Given the description of an element on the screen output the (x, y) to click on. 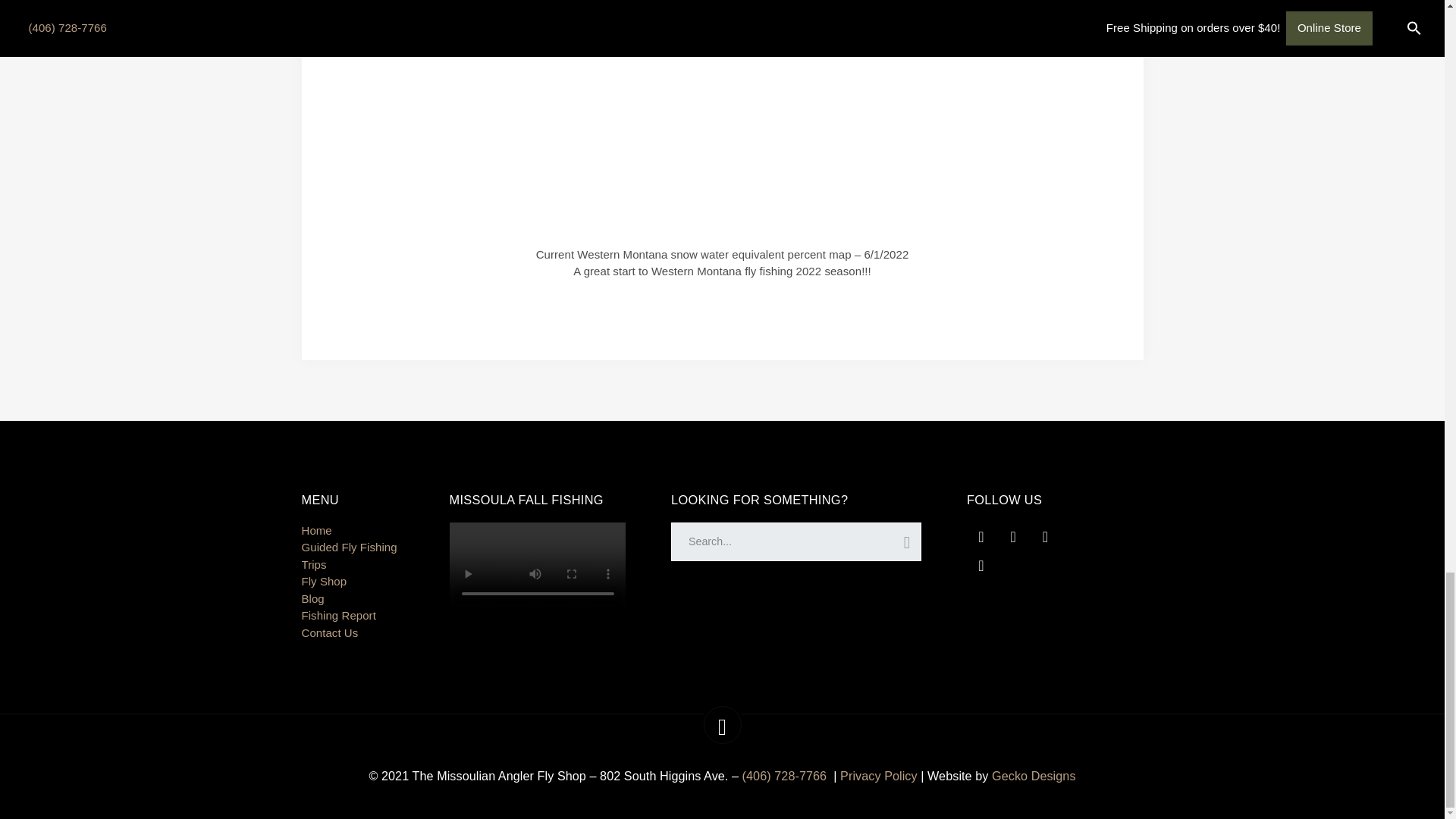
Default Label (980, 535)
Default Label (980, 563)
Default Label (1013, 535)
Default Label (1045, 535)
